Given the description of an element on the screen output the (x, y) to click on. 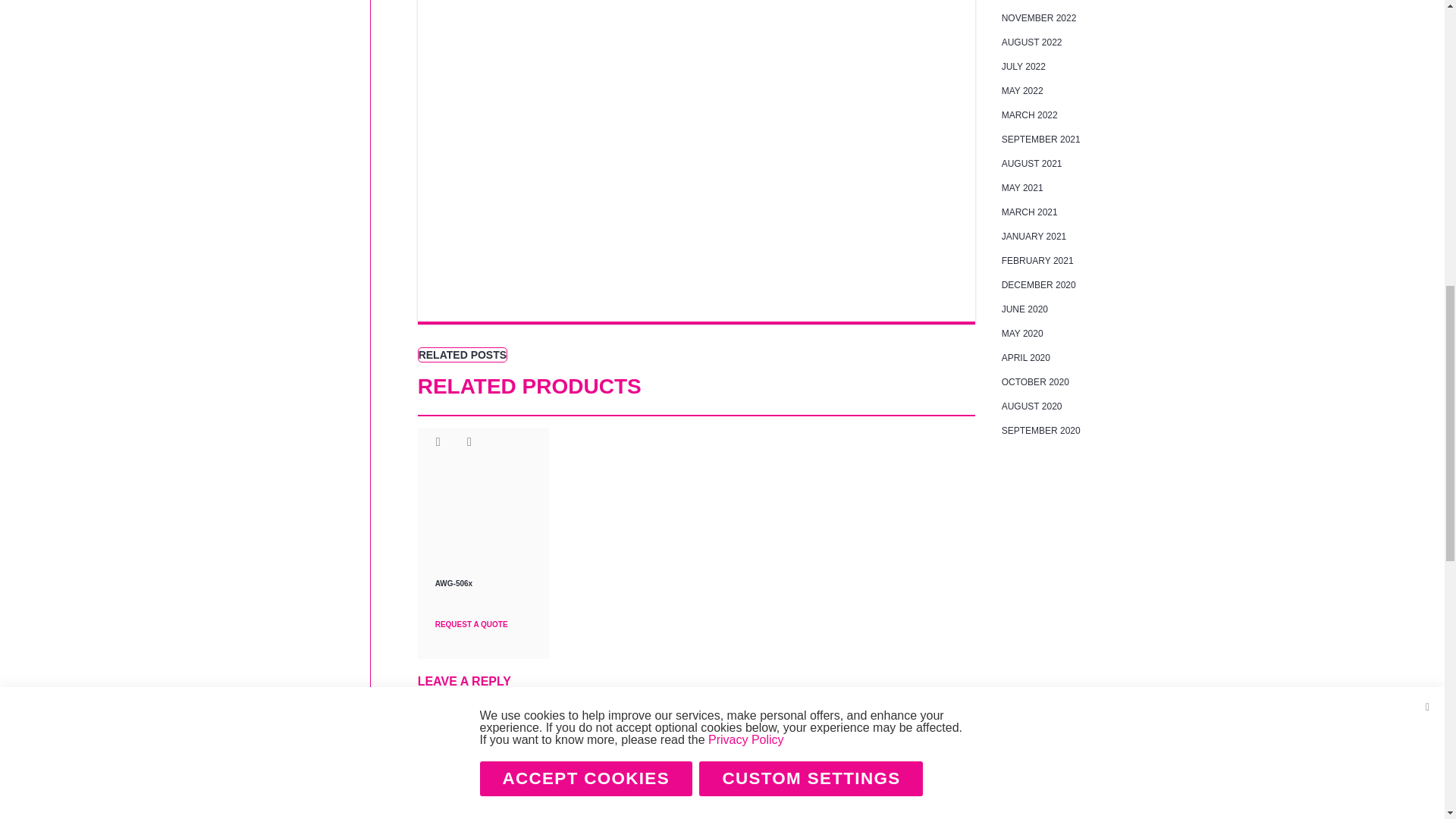
Add to Compare (470, 440)
Request a Quote (483, 611)
AWG-506x (483, 583)
Add to Wish List (438, 440)
